Given the description of an element on the screen output the (x, y) to click on. 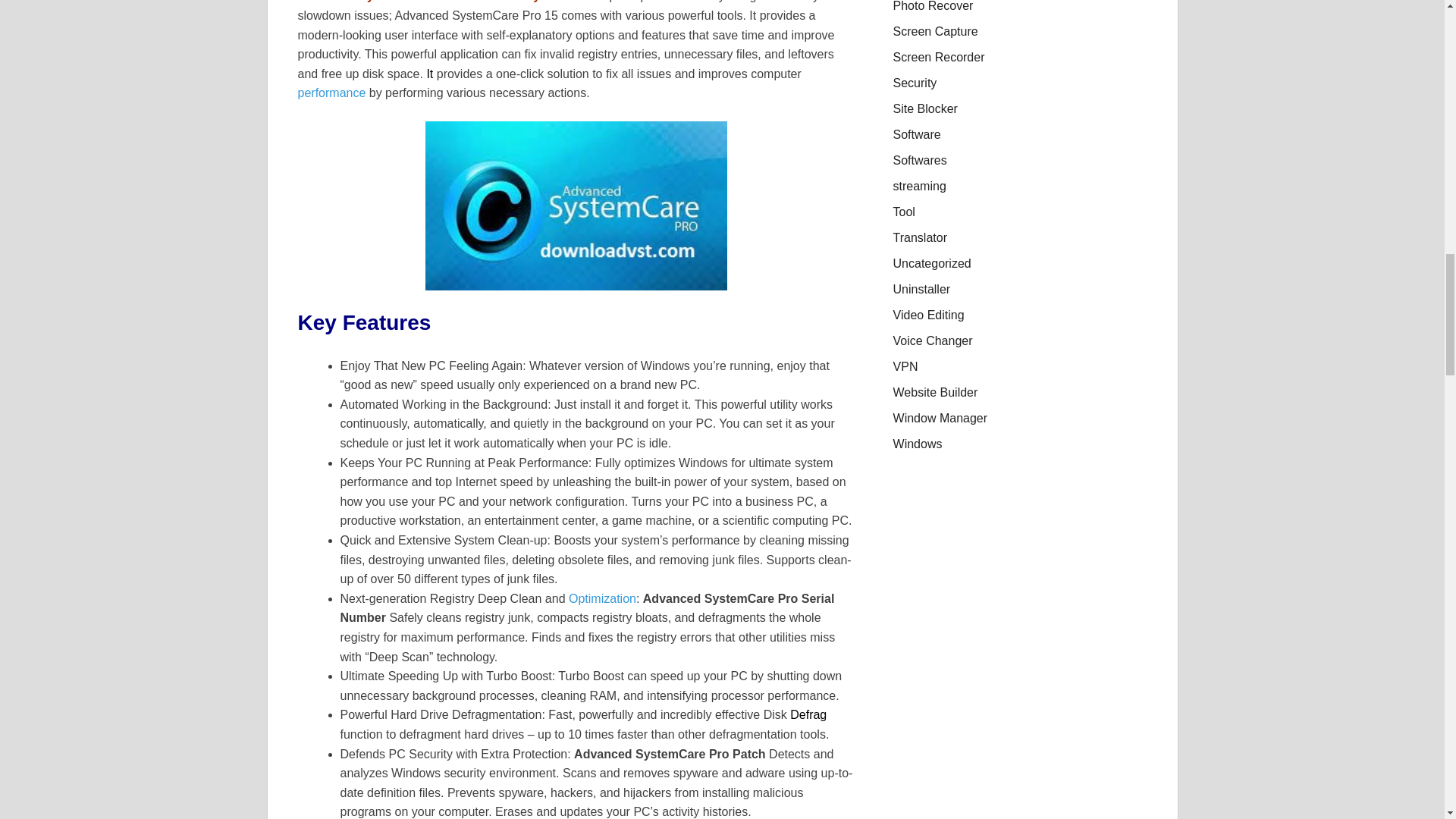
Optimization (602, 598)
Defrag (808, 714)
Advanced SystemCare Pro Crack (575, 205)
performance (331, 92)
